Given the description of an element on the screen output the (x, y) to click on. 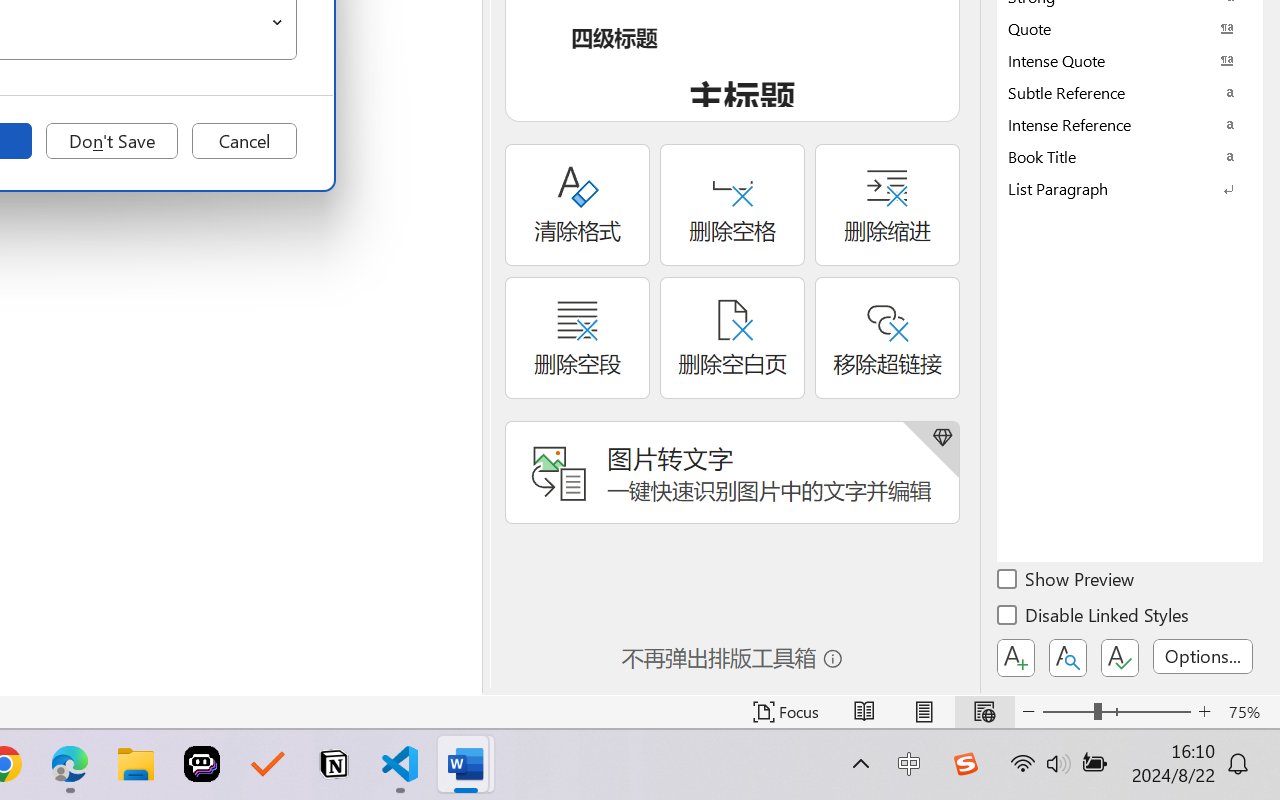
Intense Quote (1130, 60)
Intense Reference (1130, 124)
Class: NetUIImage (1116, 188)
Book Title (1130, 156)
Don't Save (111, 141)
Zoom Out (1067, 712)
Poe (201, 764)
